Given the description of an element on the screen output the (x, y) to click on. 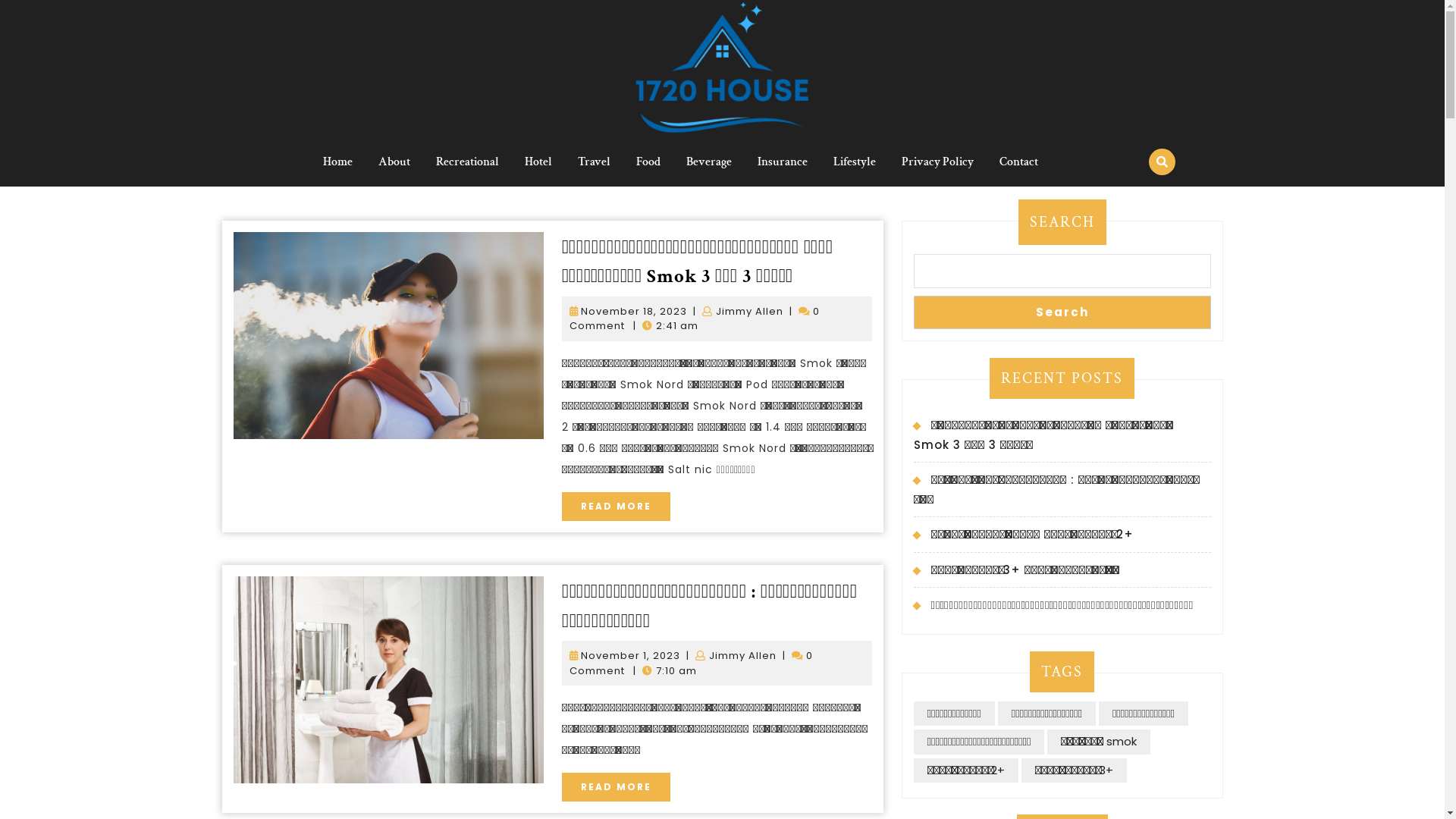
Jimmy Allen
Jimmy Allen Element type: text (742, 655)
Travel Element type: text (593, 161)
Contact Element type: text (1018, 161)
Hotel Element type: text (538, 161)
Home Element type: text (337, 161)
November 18, 2023
November 18, 2023 Element type: text (633, 311)
About Element type: text (394, 161)
Search Element type: text (1061, 312)
Beverage Element type: text (708, 161)
READ MORE
READ MORE Element type: text (615, 786)
Jimmy Allen
Jimmy Allen Element type: text (749, 311)
Recreational Element type: text (467, 161)
Food Element type: text (647, 161)
READ MORE
READ MORE Element type: text (615, 506)
November 1, 2023
November 1, 2023 Element type: text (630, 655)
Insurance Element type: text (782, 161)
Privacy Policy Element type: text (937, 161)
Lifestyle Element type: text (854, 161)
